Given the description of an element on the screen output the (x, y) to click on. 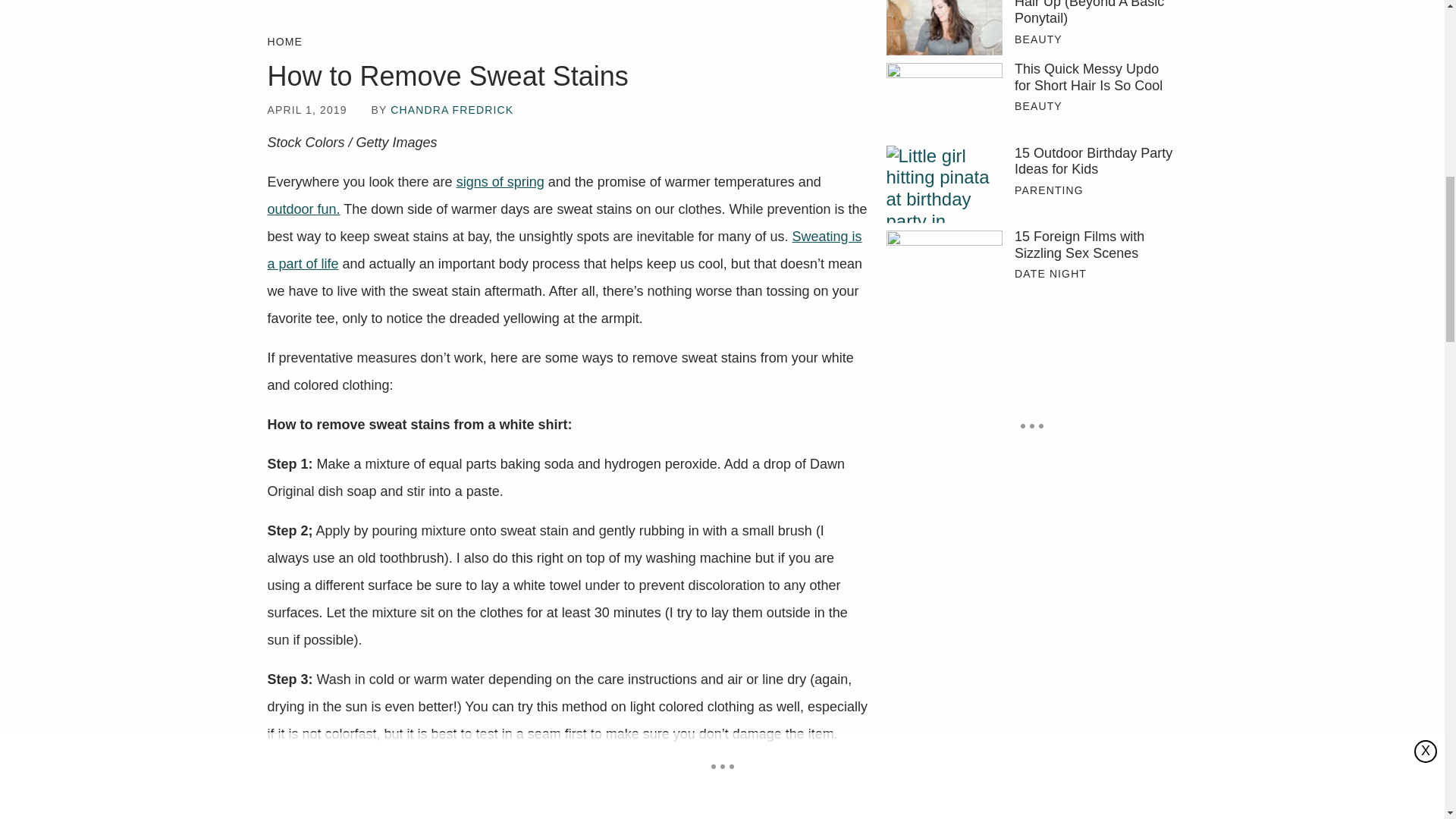
15 Foreign Films with Sizzling Sex Scenes (1095, 245)
HOME (283, 42)
This Quick Messy Updo for Short Hair Is So Cool (944, 99)
15 Outdoor Birthday Party Ideas for Kids (944, 183)
Sweating is a part of life (563, 250)
15 Outdoor Birthday Party Ideas for Kids (1095, 161)
15 Foreign Films with Sizzling Sex Scenes (944, 267)
outdoor fun. (302, 209)
signs of spring (500, 181)
CHANDRA FREDRICK (451, 110)
This Quick Messy Updo for Short Hair Is So Cool (1095, 77)
